Given the description of an element on the screen output the (x, y) to click on. 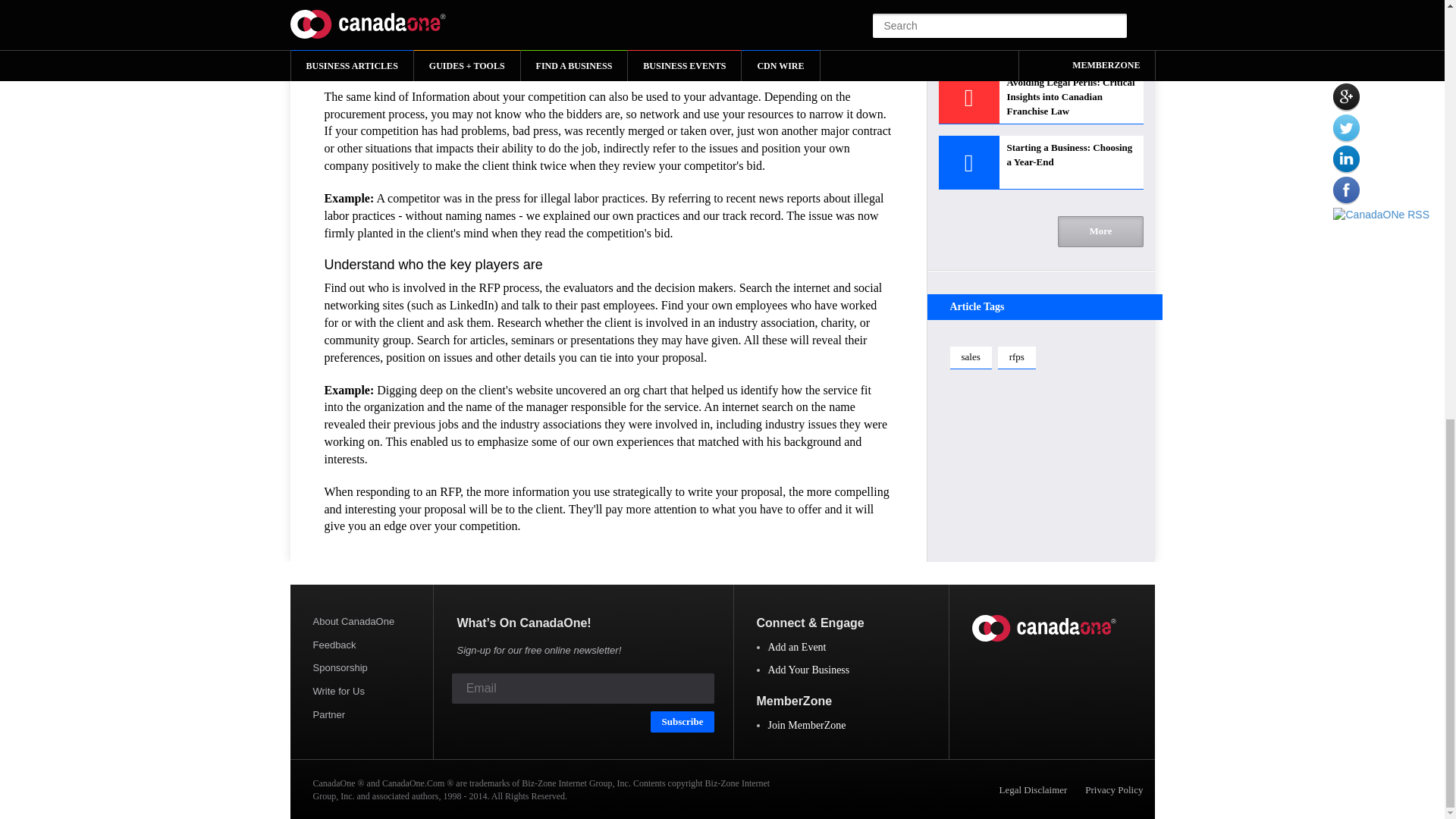
Starting a Business: Choosing a Year-End (1040, 162)
Conversations with Entrepreneurs: Billy Blanks (1040, 31)
